Given the description of an element on the screen output the (x, y) to click on. 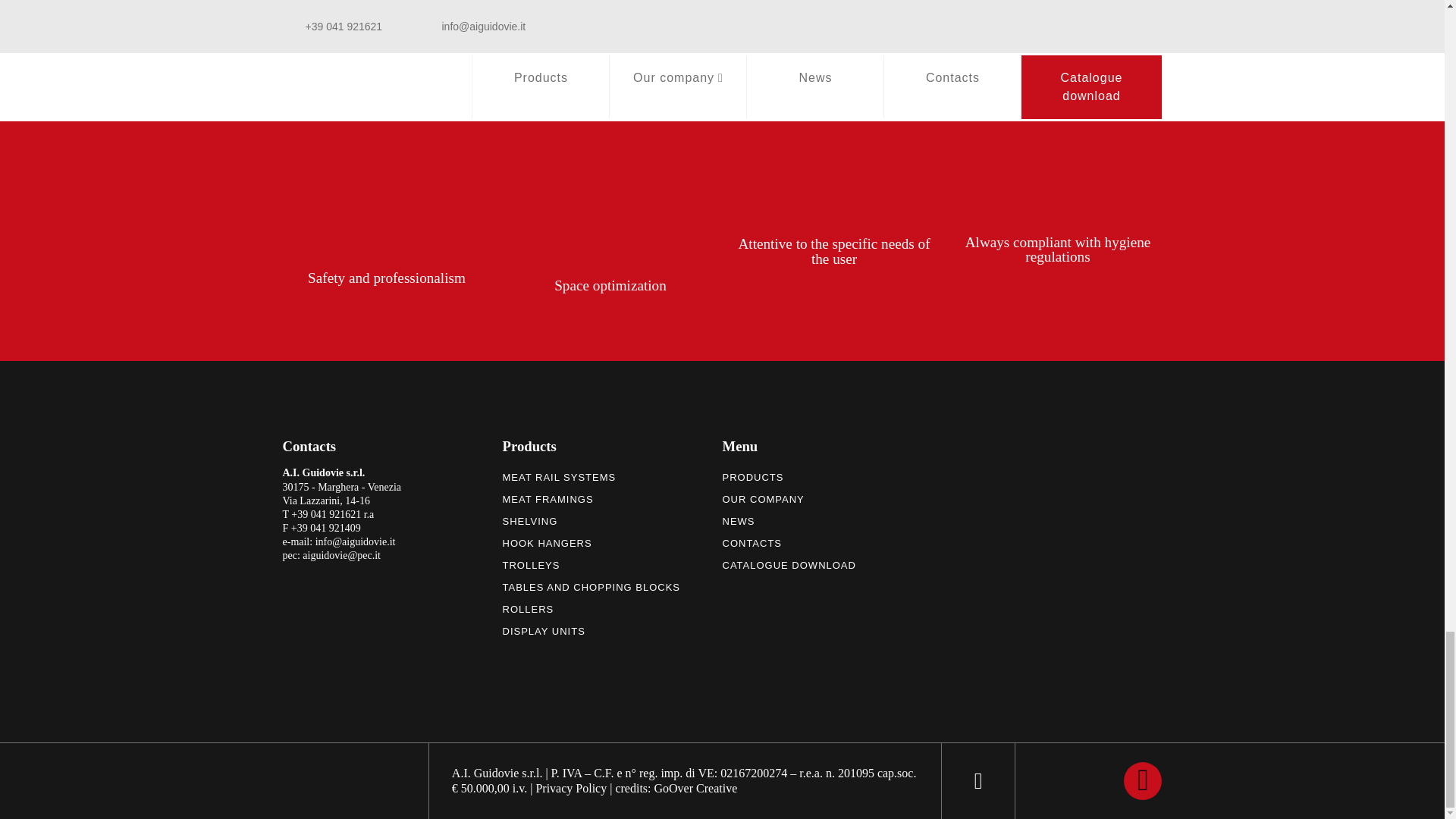
SHELVING (570, 521)
HOOK HANGERS (570, 543)
MEAT RAIL SYSTEMS (570, 477)
MEAT FRAMINGS (570, 499)
